Given the description of an element on the screen output the (x, y) to click on. 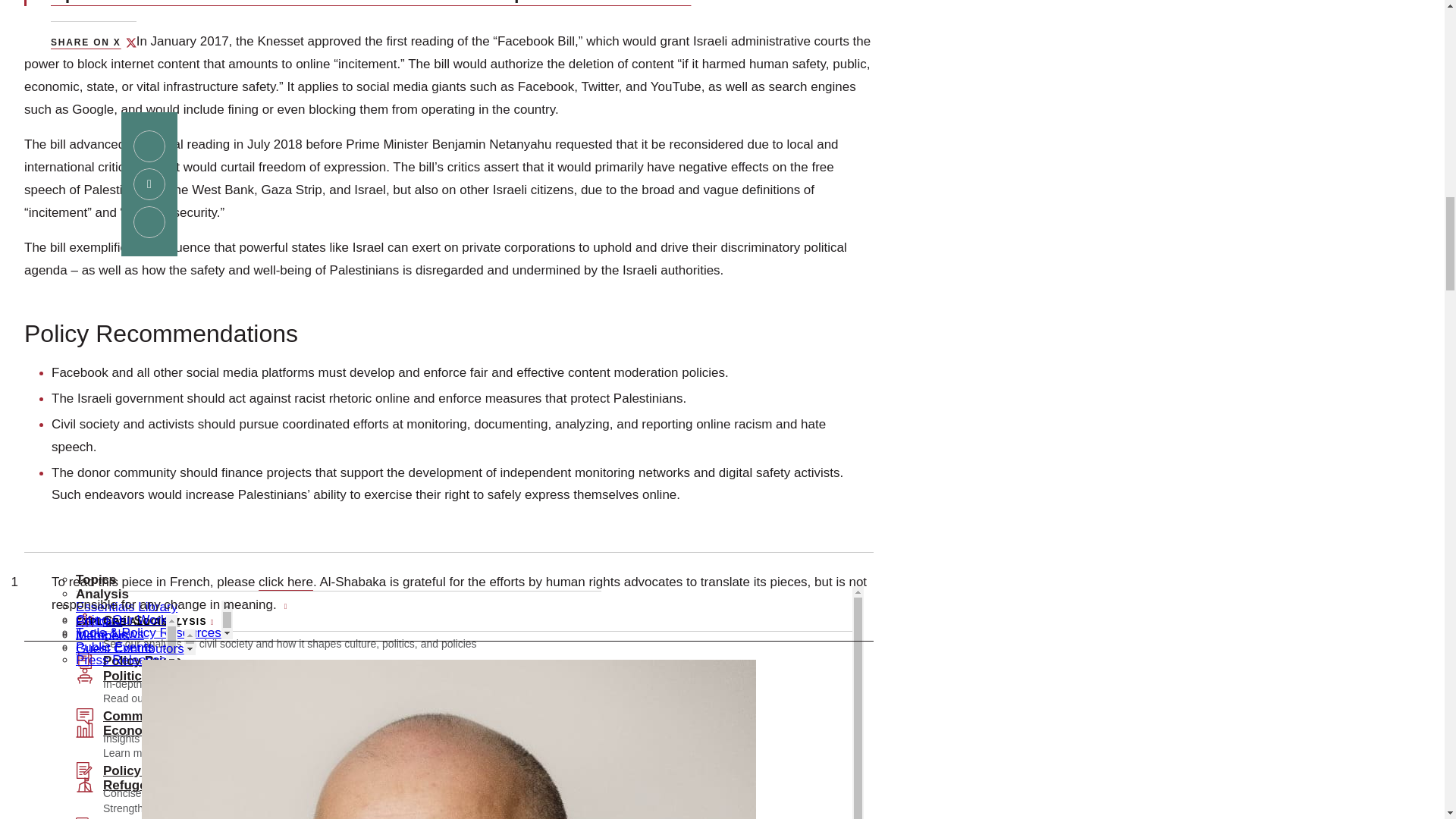
Policy Lab (105, 60)
